Given the description of an element on the screen output the (x, y) to click on. 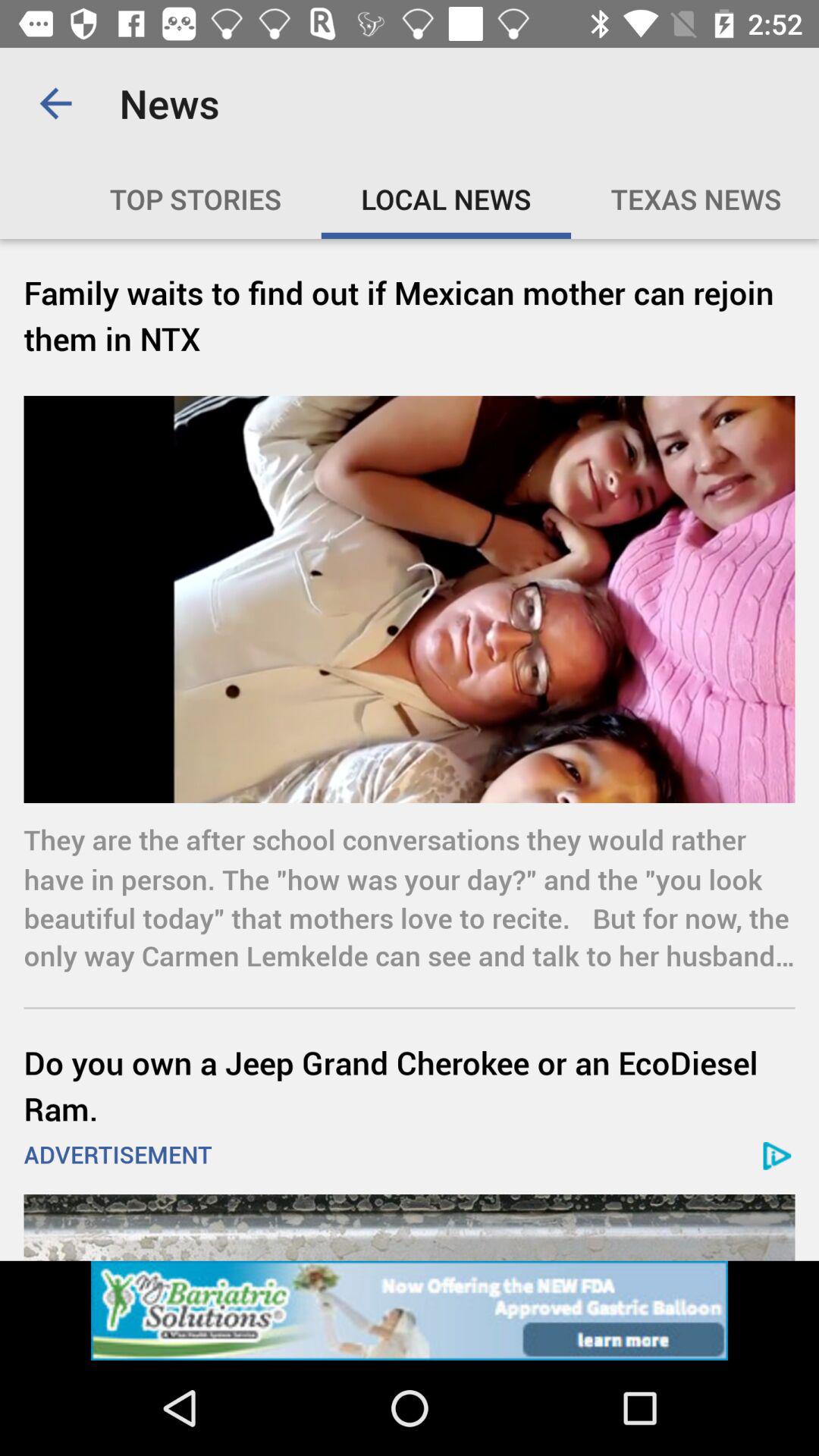
opens a advertisement (409, 1227)
